Given the description of an element on the screen output the (x, y) to click on. 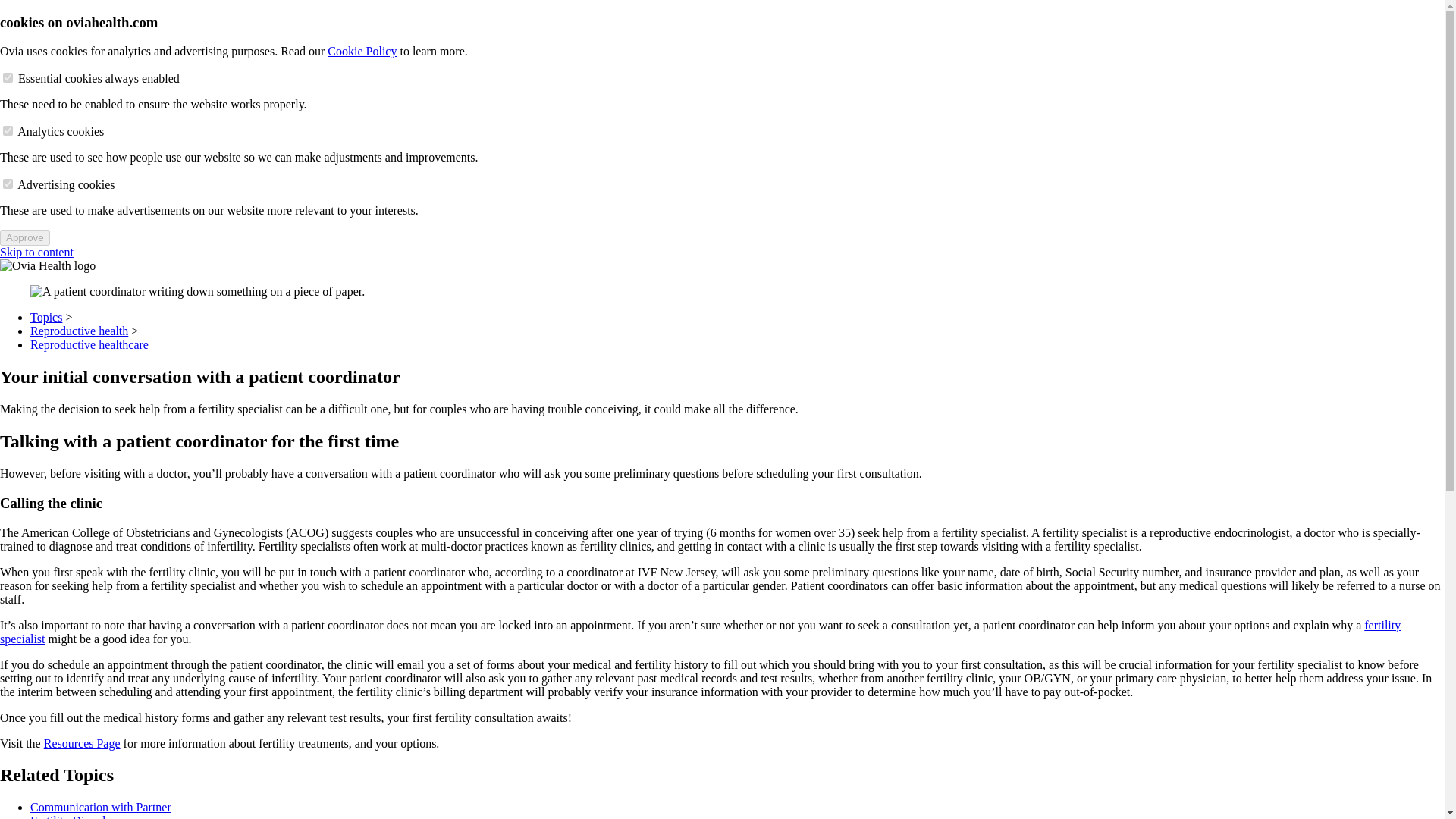
Reproductive healthcare (89, 344)
Fertility Disorders (74, 816)
Cookie Policy (361, 51)
on (7, 130)
Communication with Partner (100, 807)
Reproductive health (79, 330)
on (7, 184)
Skip to content (37, 251)
on (7, 77)
Resources Page (81, 743)
Topics (46, 317)
Approve (24, 237)
fertility specialist (700, 632)
